Given the description of an element on the screen output the (x, y) to click on. 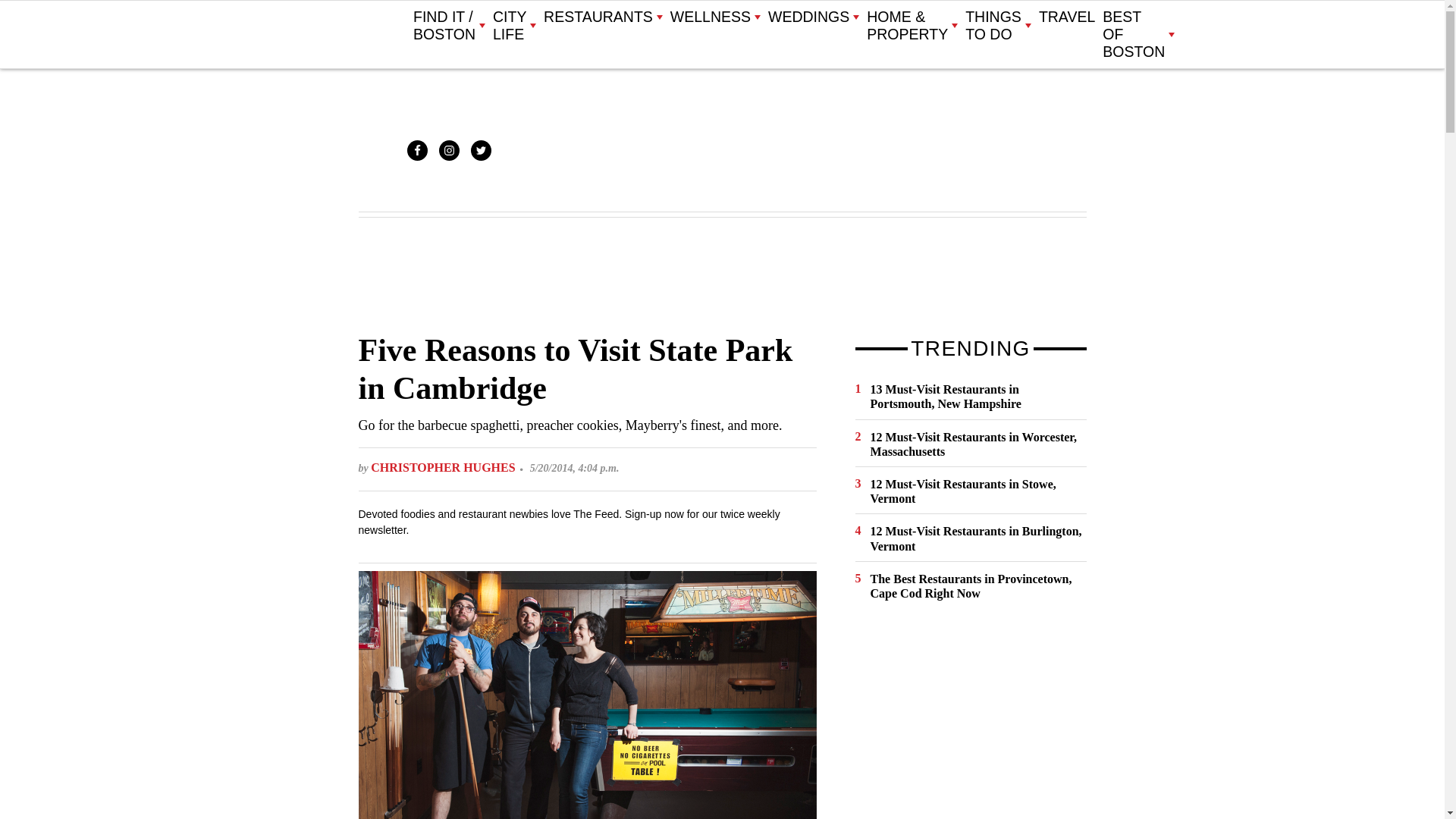
WELLNESS (714, 16)
WEDDINGS (813, 16)
RESTAURANTS (602, 16)
THINGS TO DO (997, 25)
